Given the description of an element on the screen output the (x, y) to click on. 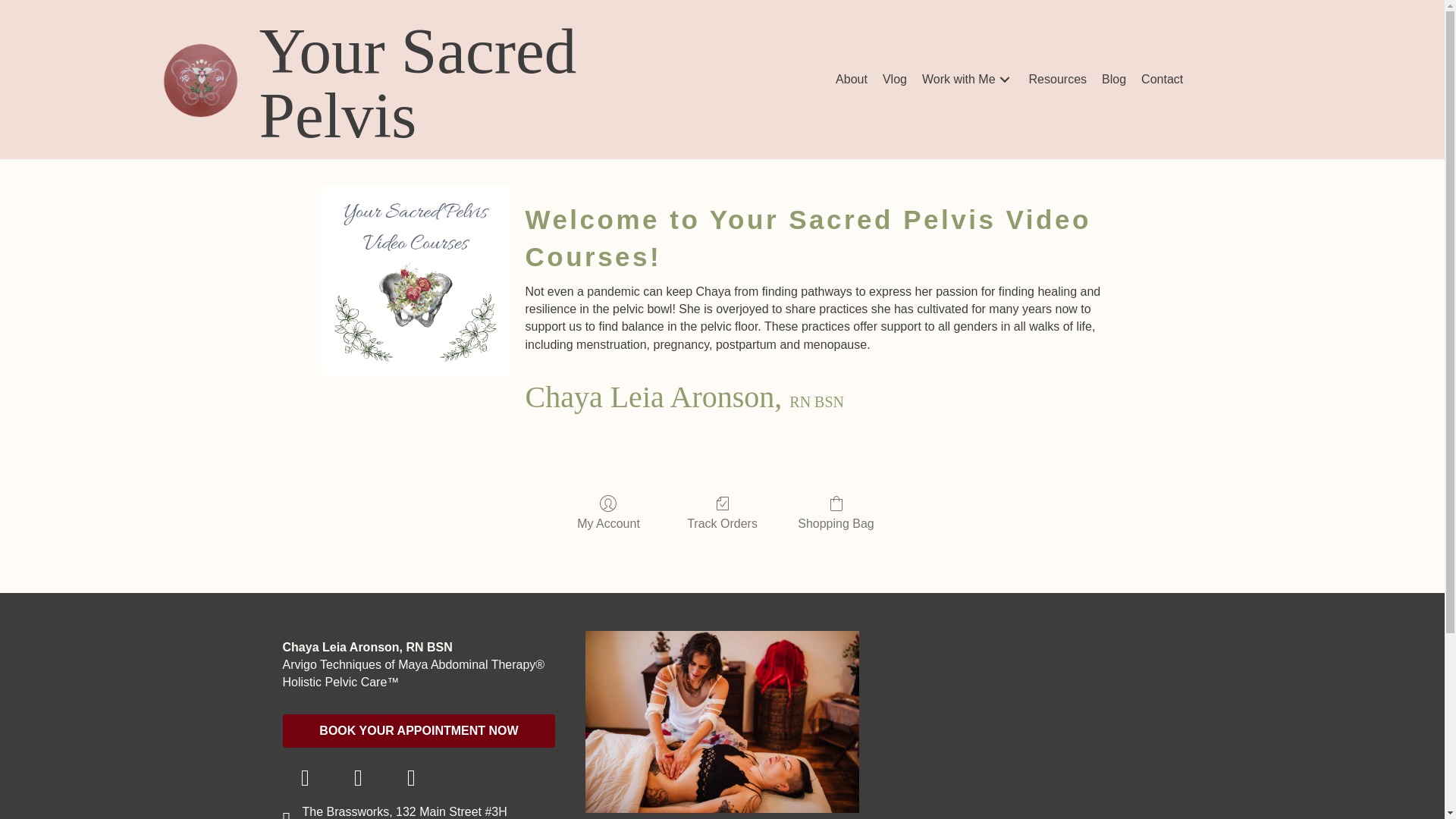
Blog (1114, 79)
Yelp (357, 777)
Your Sacred Pelvis (417, 82)
Your Sacred Pelvis (200, 79)
Vlog (894, 79)
Shopping Bag (836, 512)
Your Sacred Pelvis Video Courses (414, 280)
My Account (608, 512)
Work with Me (968, 79)
Resources (1058, 79)
